Given the description of an element on the screen output the (x, y) to click on. 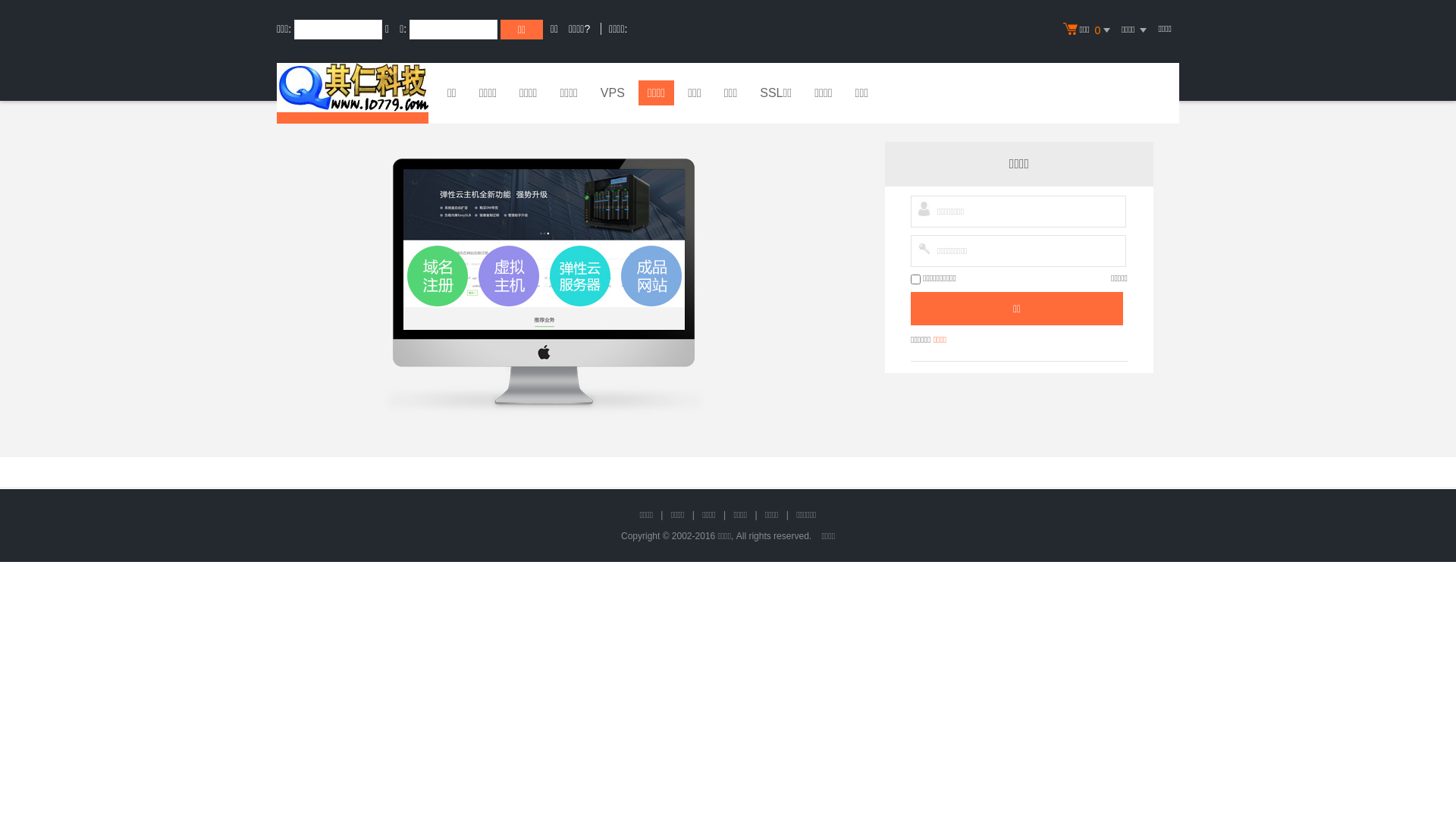
VPS Element type: text (612, 94)
